Given the description of an element on the screen output the (x, y) to click on. 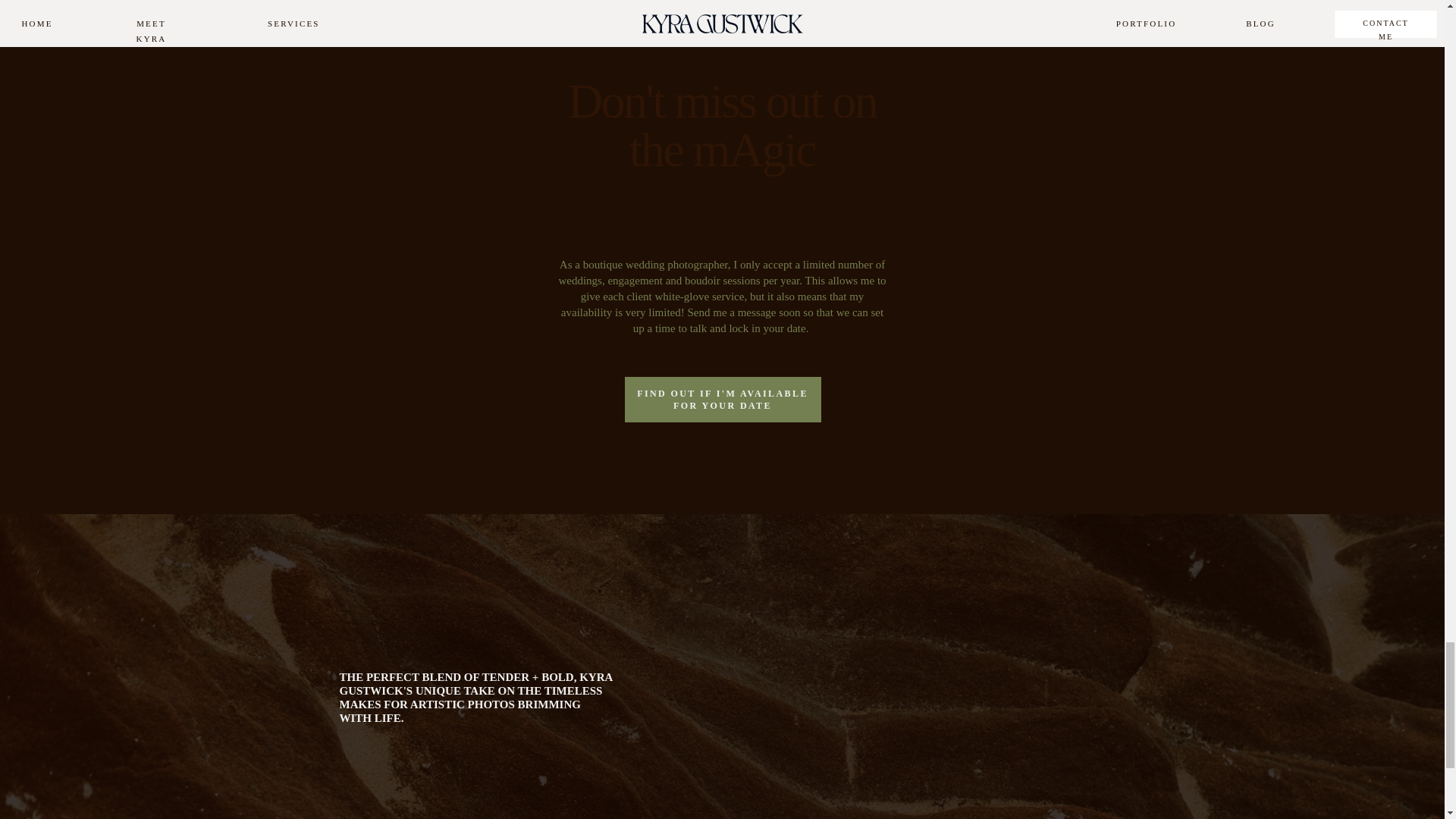
Don't miss out on the mAgic (721, 162)
FIND OUT IF I'M AVAILABLE FOR YOUR DATE (721, 399)
